Given the description of an element on the screen output the (x, y) to click on. 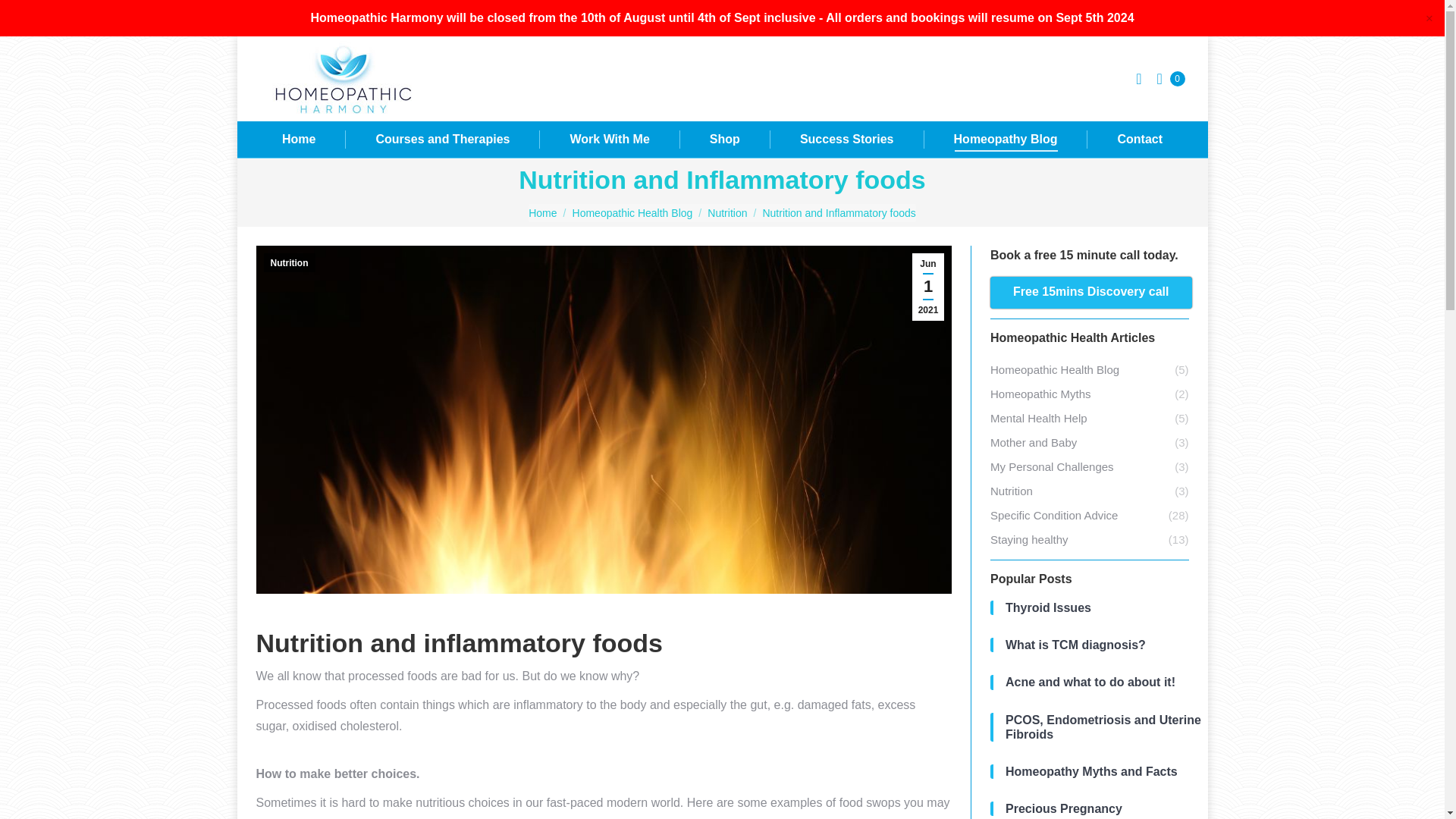
Success Stories (846, 138)
Homeopathic Health Blog (632, 213)
Click here to book a free 15 minute discovery call... (1091, 292)
Nutrition (726, 213)
Work With Me (609, 138)
Courses and Therapies (442, 138)
Shop (724, 138)
Contact (1139, 138)
Go! (24, 16)
